Given the description of an element on the screen output the (x, y) to click on. 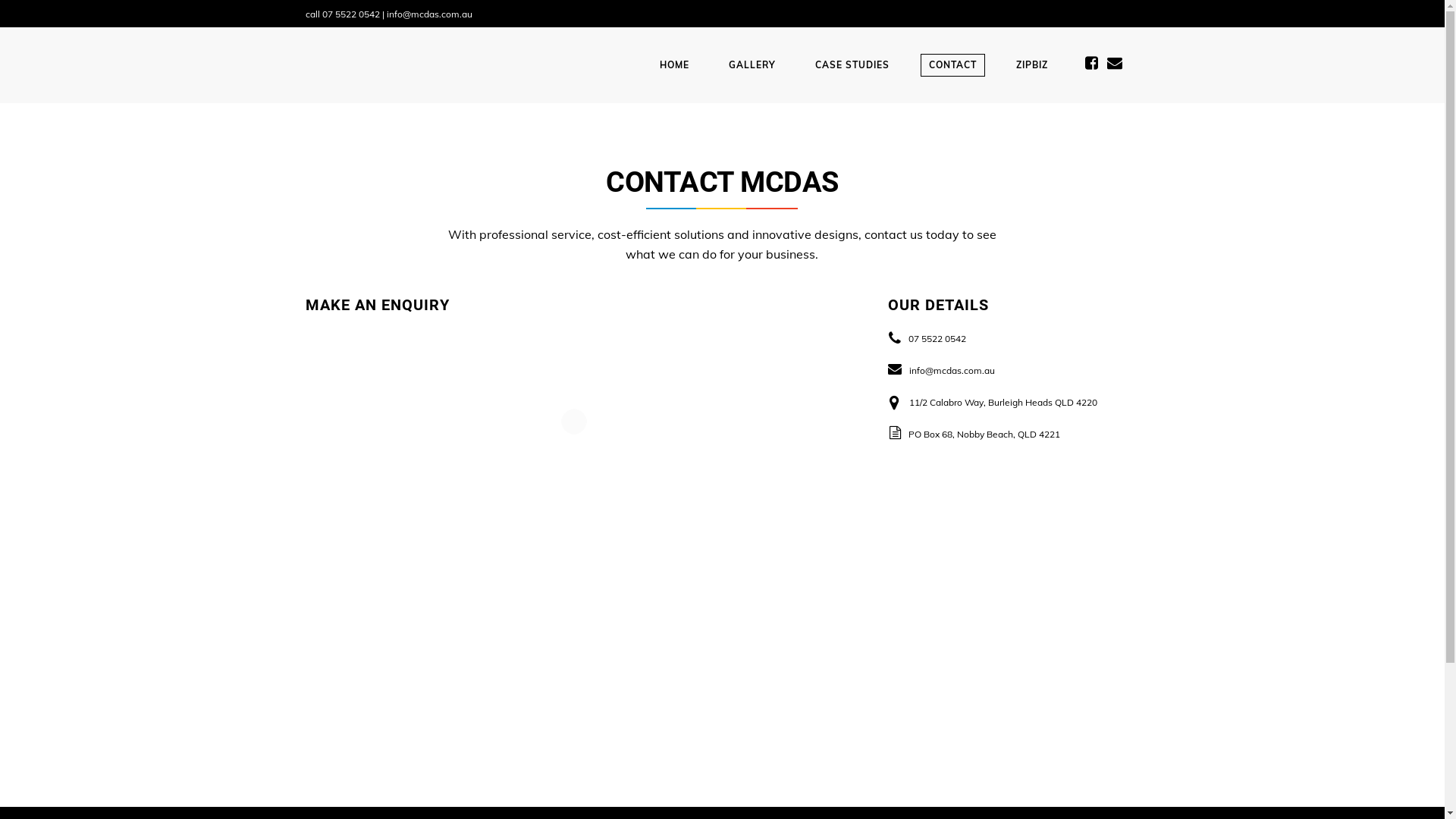
CASE STUDIES Element type: text (851, 65)
07 5522 0542 Element type: text (937, 338)
info@mcdas.com.au Element type: text (429, 13)
HOME Element type: text (674, 65)
info@mcdas.com.au Element type: text (951, 370)
GALLERY Element type: text (751, 65)
07 5522 0542 Element type: text (350, 13)
11/2 Calabro Way, Burleigh Heads QLD 4220 Element type: text (1003, 401)
CONTACT Element type: text (951, 65)
ZIPBIZ Element type: text (1031, 65)
